Given the description of an element on the screen output the (x, y) to click on. 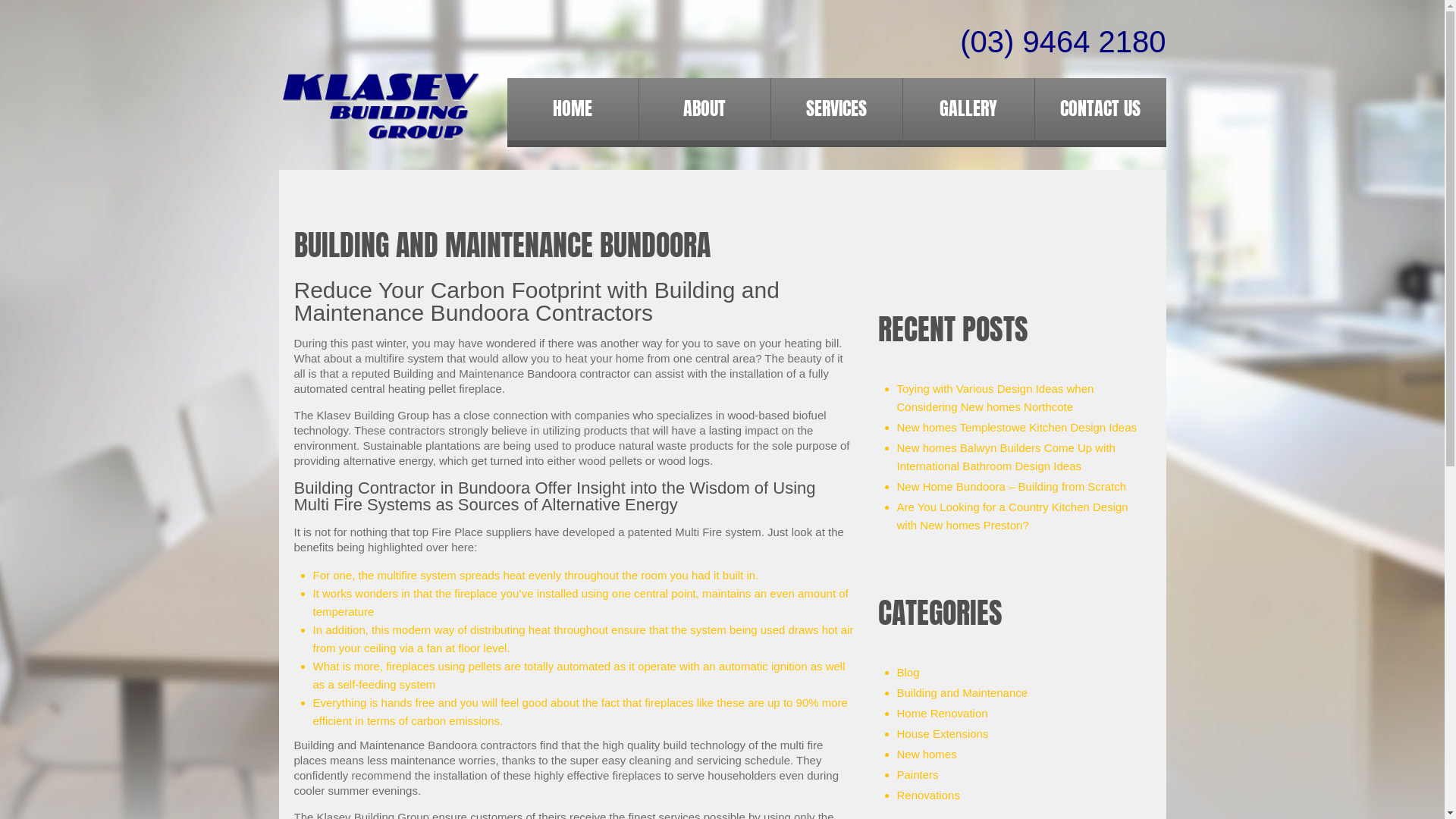
CONTACT US Element type: text (1099, 108)
Blog Element type: text (907, 671)
(03) 9464 2180 Element type: text (1062, 41)
New homes Element type: text (926, 753)
Building and Maintenance Element type: text (961, 692)
New homes Templestowe Kitchen Design Ideas Element type: text (1016, 426)
GALLERY Element type: text (967, 108)
House Extensions Element type: text (942, 733)
HOME Element type: text (571, 108)
Home Renovation Element type: text (941, 712)
SERVICES Element type: text (835, 108)
ABOUT Element type: text (703, 108)
Renovations Element type: text (927, 794)
Painters Element type: text (917, 774)
